Given the description of an element on the screen output the (x, y) to click on. 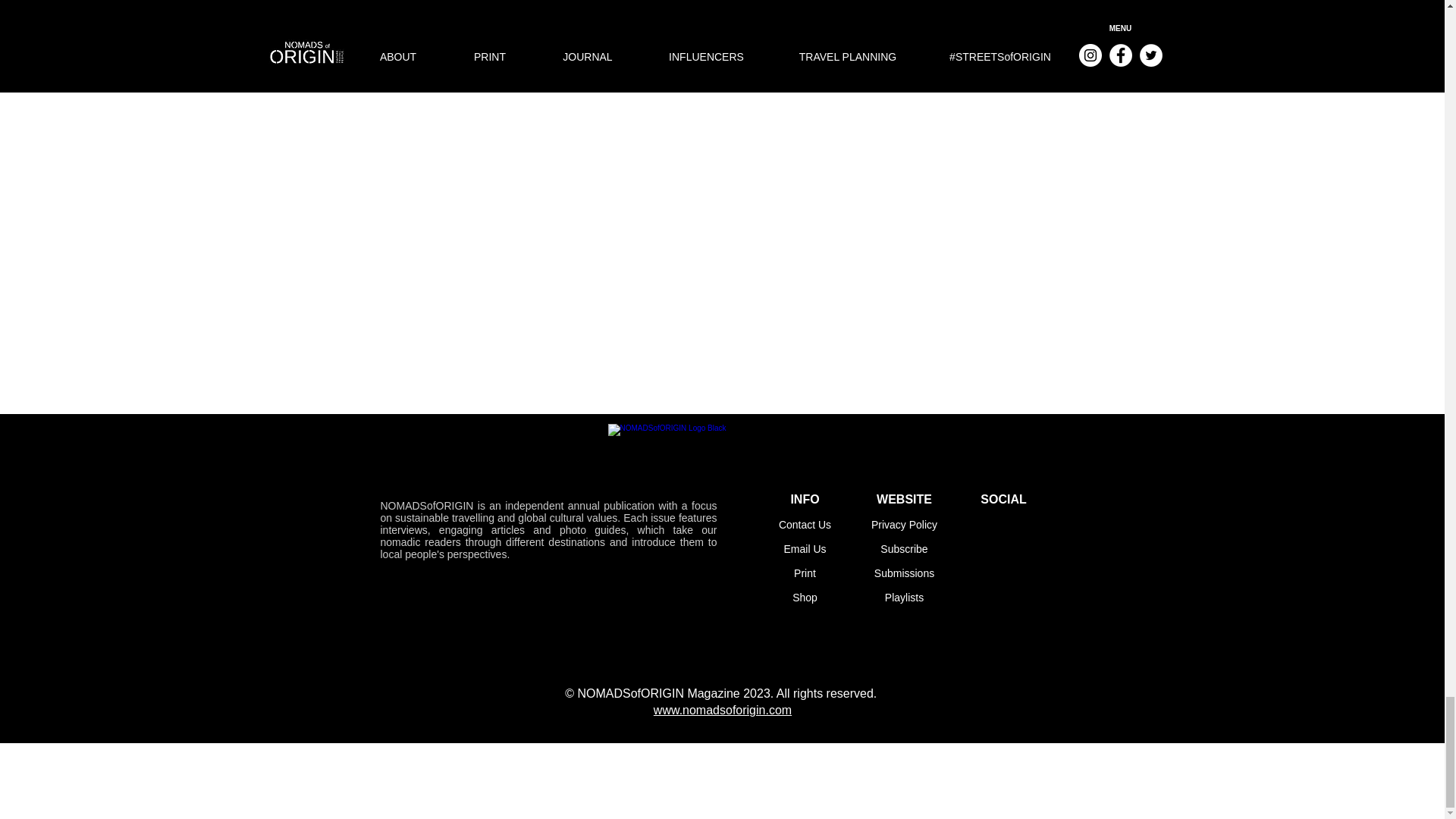
Playlists (904, 597)
Privacy Policy (903, 524)
Shop (804, 597)
www.nomadsoforigin.com (722, 709)
Contact Us (804, 524)
Submissions (904, 573)
Print (804, 573)
Subscribe (903, 548)
Email Us (804, 548)
